Given the description of an element on the screen output the (x, y) to click on. 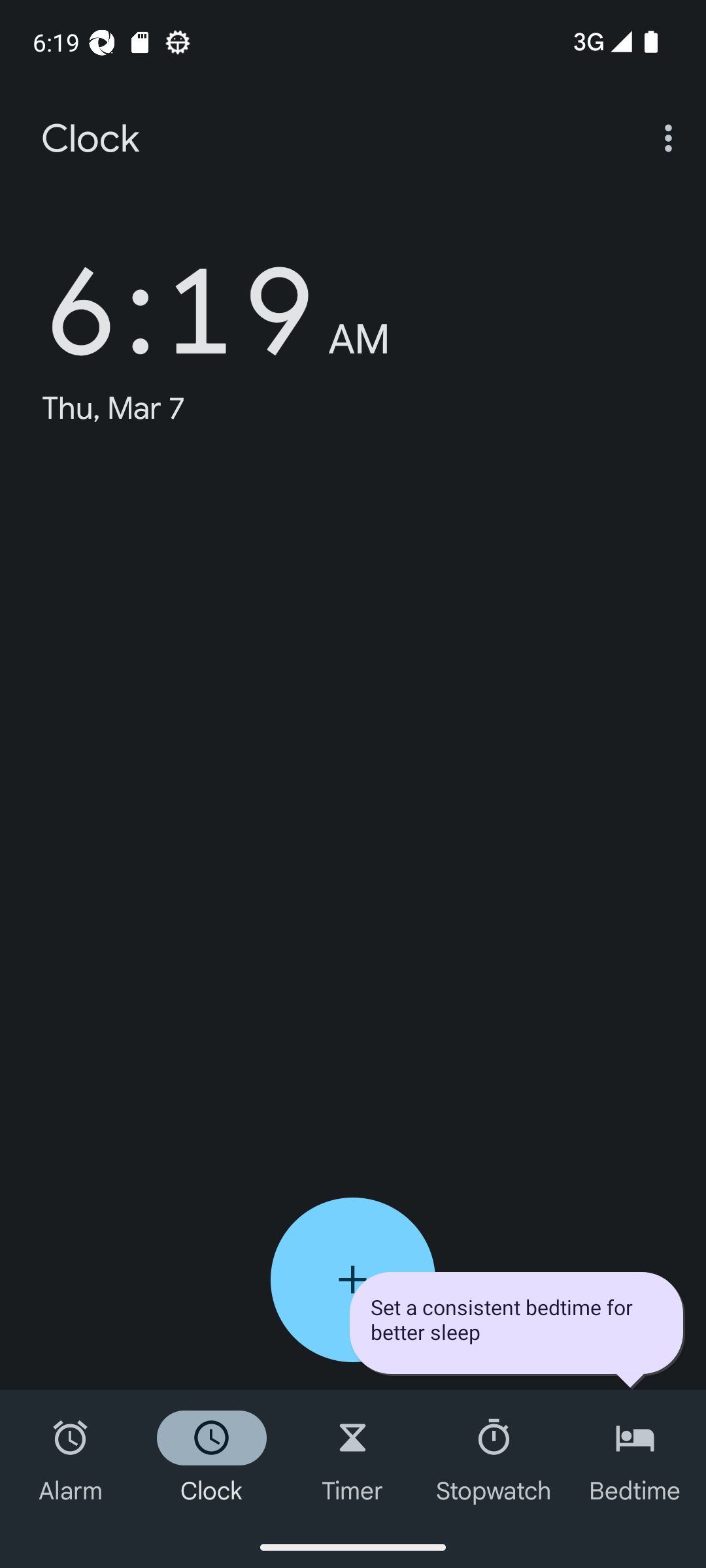
More options (671, 137)
Add city (352, 1279)
Alarm (70, 1458)
Timer (352, 1458)
Stopwatch (493, 1458)
Bedtime (635, 1458)
